Given the description of an element on the screen output the (x, y) to click on. 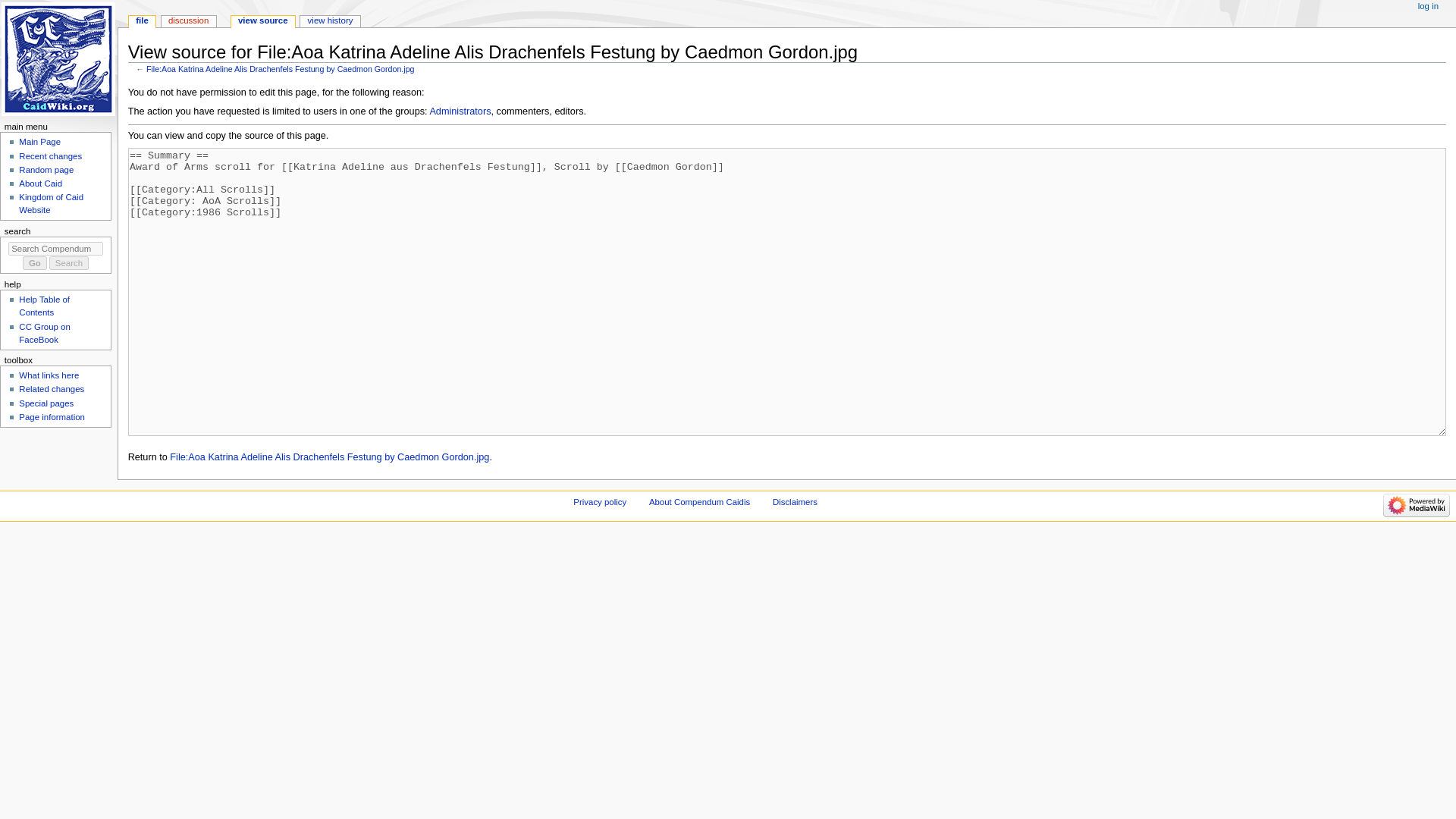
Search (68, 263)
Search (68, 263)
Administrators (459, 111)
Search the pages for this text (68, 263)
Random page (46, 169)
view history (329, 21)
Search (68, 263)
Recent changes (49, 155)
Page information (51, 416)
log in (1428, 6)
discussion (188, 21)
